Given the description of an element on the screen output the (x, y) to click on. 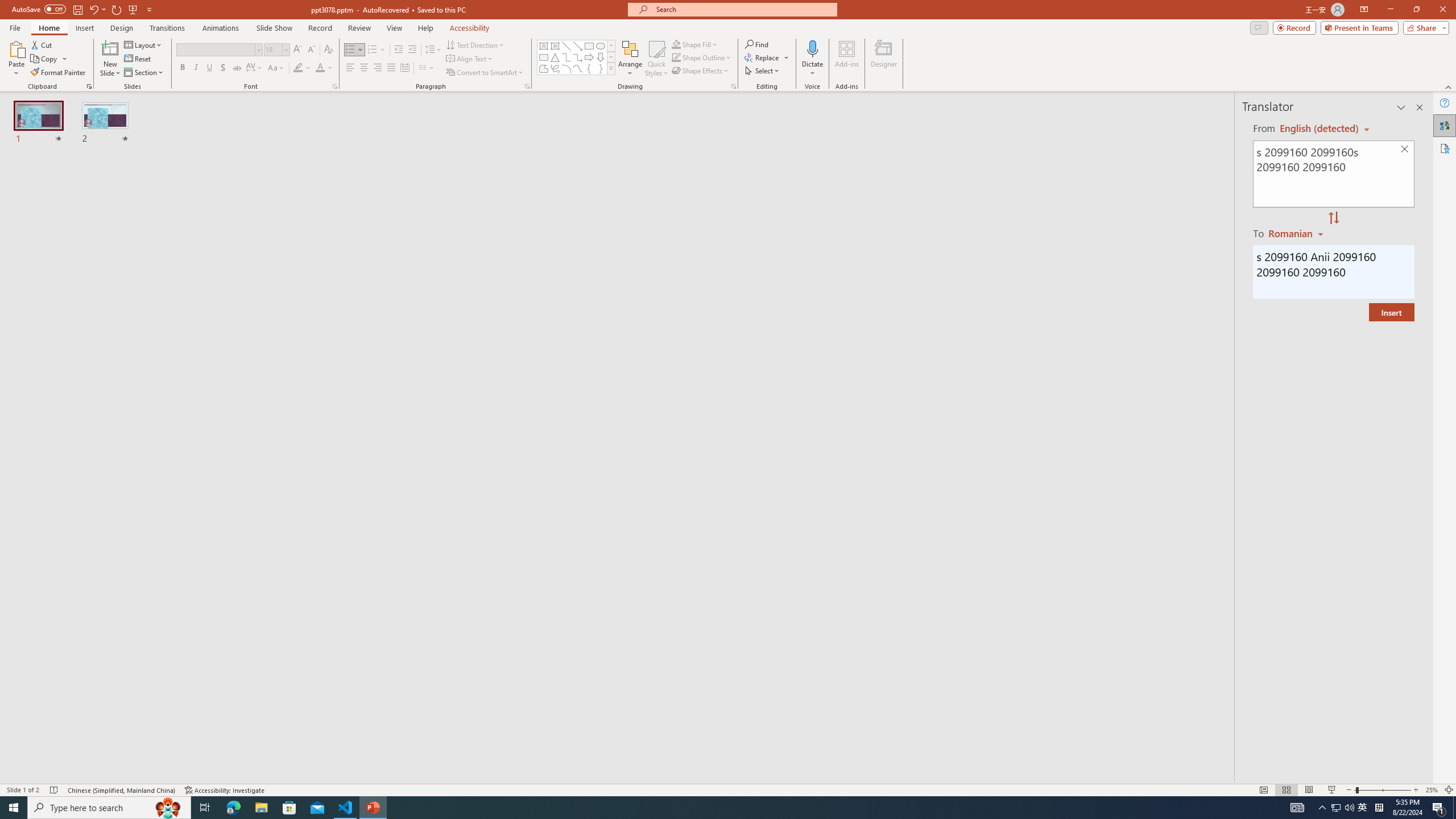
Clear text (1404, 149)
